Given the description of an element on the screen output the (x, y) to click on. 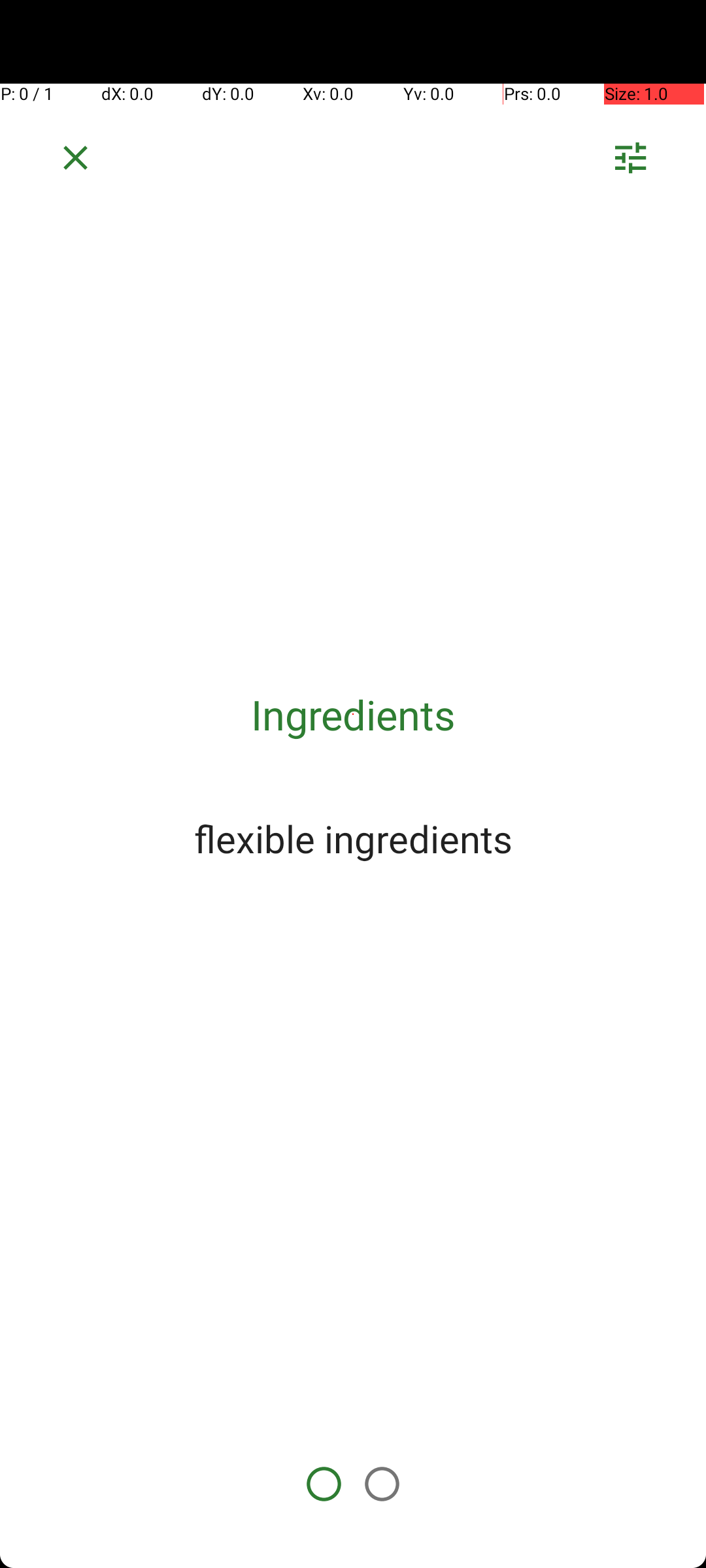
flexible ingredients Element type: android.widget.TextView (352, 838)
